Given the description of an element on the screen output the (x, y) to click on. 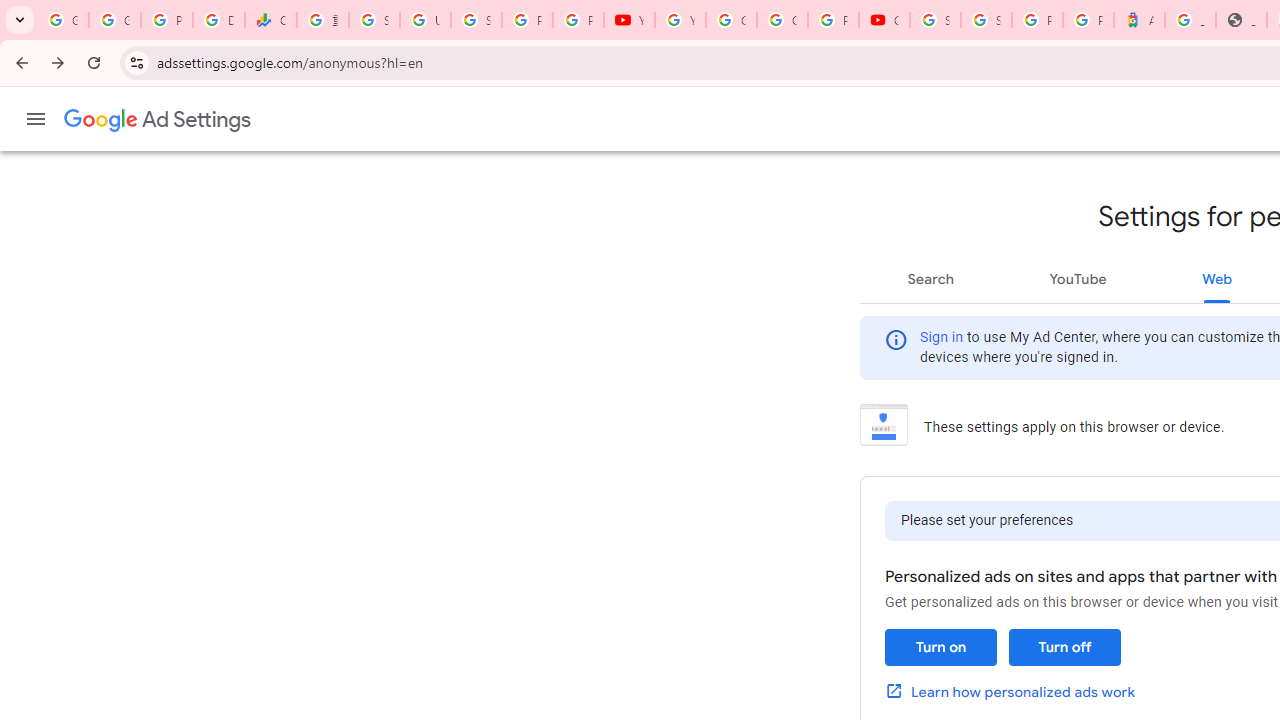
Sign in - Google Accounts (986, 20)
Turn ads based on your interests off. (1064, 647)
YouTube (1077, 278)
YouTube (680, 20)
Main menu (35, 119)
Atour Hotel - Google hotels (1138, 20)
Currencies - Google Finance (270, 20)
Web (1217, 278)
Google Account Help (731, 20)
